Given the description of an element on the screen output the (x, y) to click on. 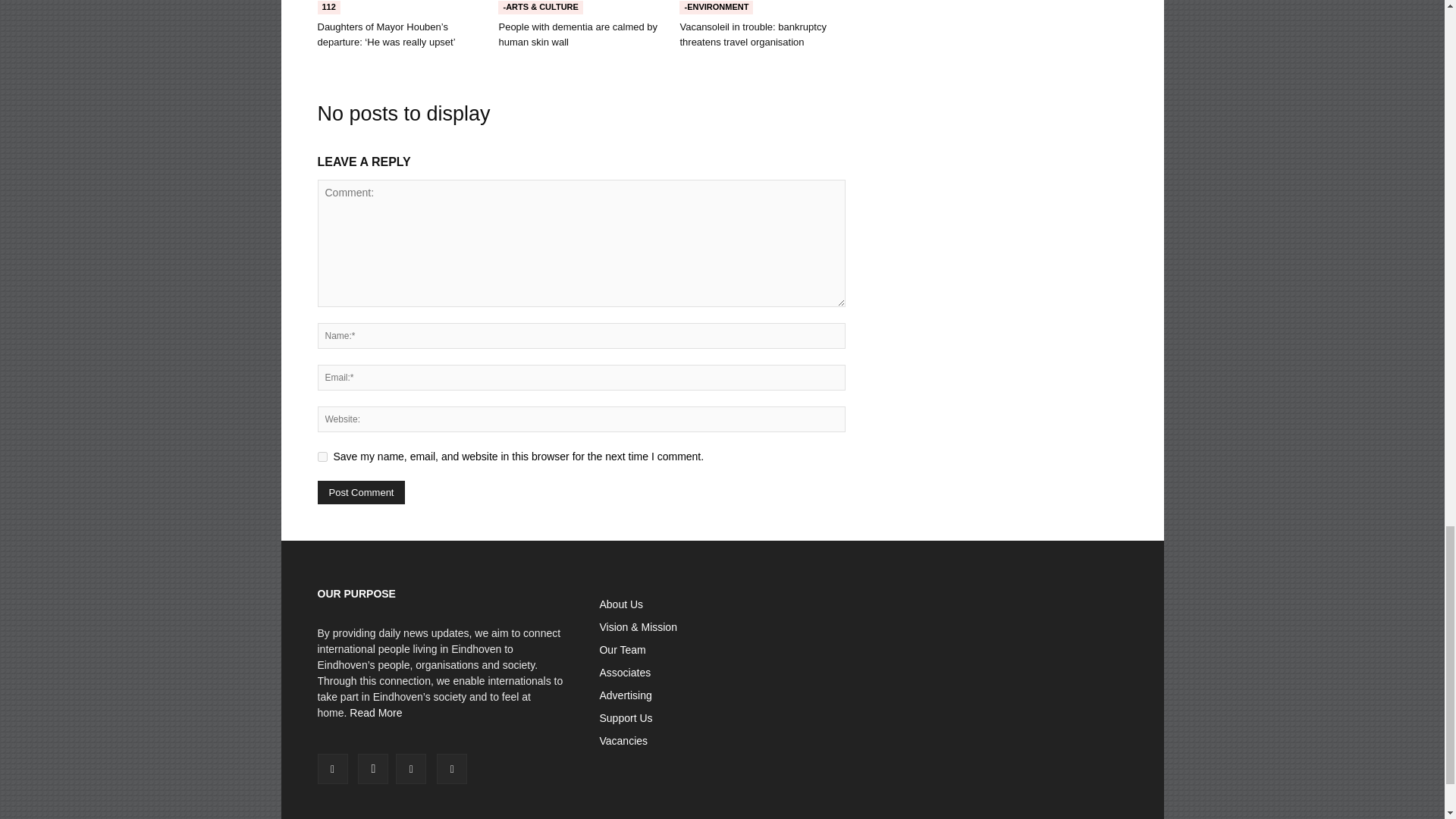
Post Comment (360, 492)
yes (321, 456)
